Given the description of an element on the screen output the (x, y) to click on. 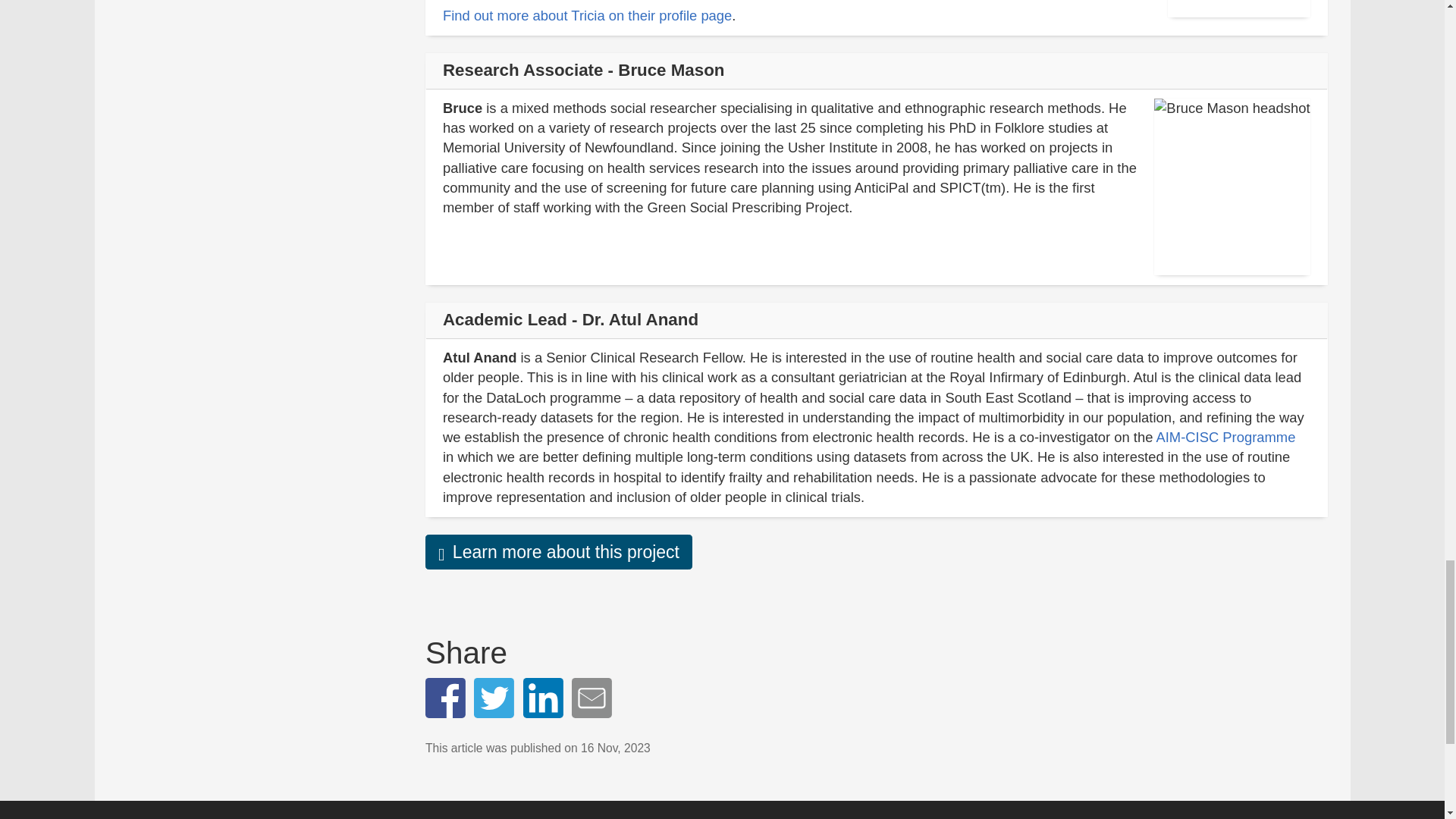
Find out more about Tricia on their profile page (587, 15)
Learn more about this project (559, 551)
AIM-CISC Programme (1225, 437)
